Given the description of an element on the screen output the (x, y) to click on. 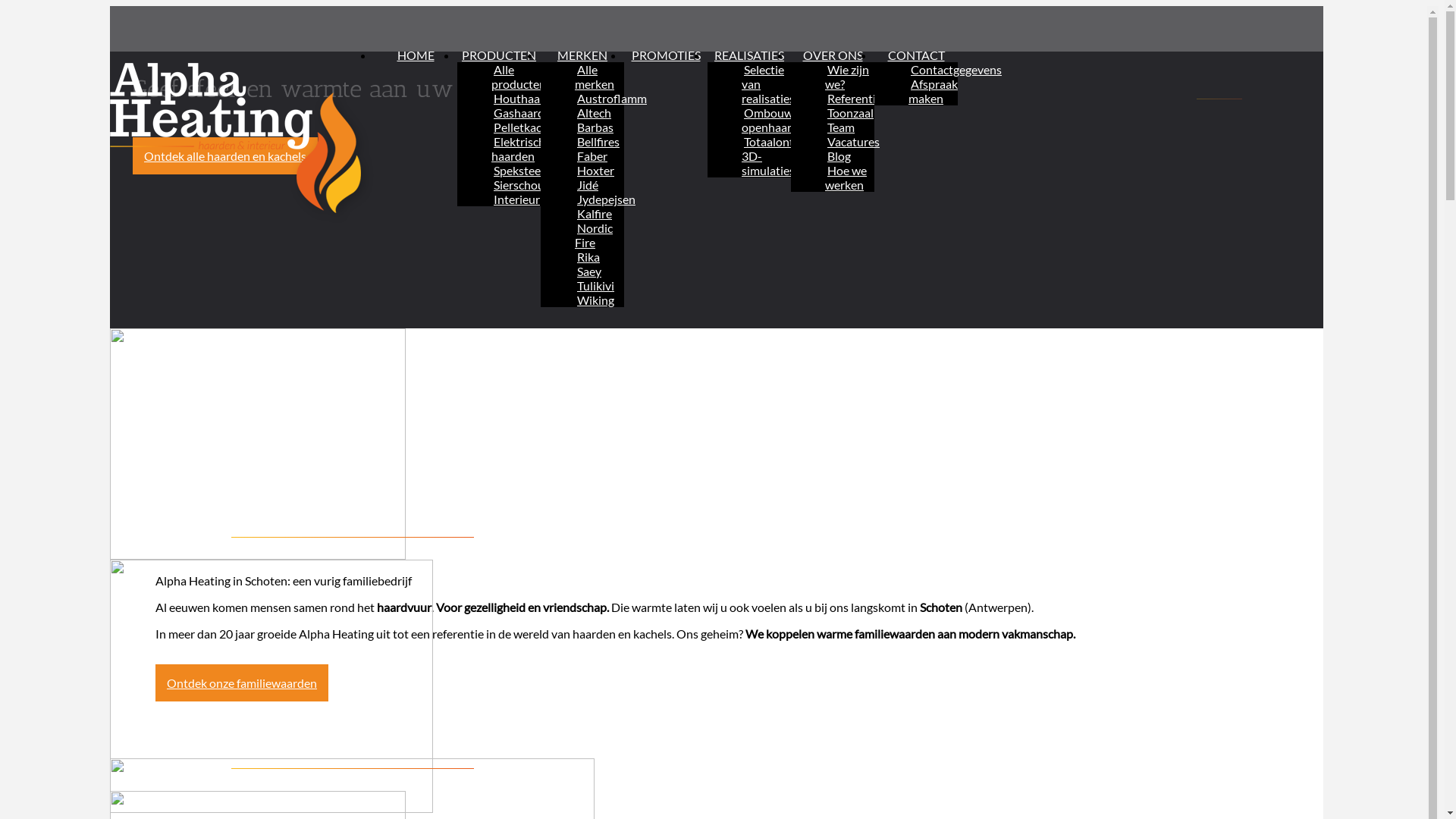
Faber Element type: text (591, 155)
Kalfire Element type: text (594, 213)
HOME Element type: text (415, 54)
Hoe we werken Element type: text (845, 177)
CONTACT Element type: text (916, 54)
REALISATIES Element type: text (749, 54)
Interieur Element type: text (516, 198)
Home Element type: hover (241, 136)
Alle merken Element type: text (595, 76)
Wie zijn we? Element type: text (847, 76)
OVER ONS Element type: text (832, 54)
Jydepejsen Element type: text (605, 198)
Gashaarden Element type: text (525, 112)
Saey Element type: text (588, 270)
PROMOTIES Element type: text (665, 54)
Wiking Element type: text (595, 299)
Selectie van realisaties Element type: text (769, 83)
Ombouw openhaard Element type: text (770, 119)
Contactgegevens Element type: text (956, 69)
Tulikivi Element type: text (595, 285)
Altech Element type: text (593, 112)
Pelletkachels Element type: text (527, 126)
Vacatures Element type: text (853, 141)
Referenties Element type: text (857, 97)
Ontdek onze familiewaarden Element type: text (241, 682)
Afspraak maken Element type: text (932, 90)
Overslaan en naar de inhoud gaan Element type: text (94, 6)
Rika Element type: text (588, 256)
PRODUCTEN Element type: text (498, 54)
Toonzaal Element type: text (850, 112)
Nordic Fire Element type: text (593, 235)
Bellfires Element type: text (597, 141)
Barbas Element type: text (594, 126)
Speksteenkachels Element type: text (539, 170)
Alle producten Element type: text (519, 76)
Elektrische haarden Element type: text (521, 148)
Blog Element type: text (839, 155)
Ontdek alle haarden en kachels Element type: text (224, 155)
MERKEN Element type: text (582, 54)
Austroflamm Element type: text (611, 97)
Totaalontwerp 3D-simulaties Element type: text (780, 155)
Team Element type: text (840, 126)
Houthaarden Element type: text (528, 97)
Hoxter Element type: text (595, 170)
Sierschouwen Element type: text (529, 184)
